Given the description of an element on the screen output the (x, y) to click on. 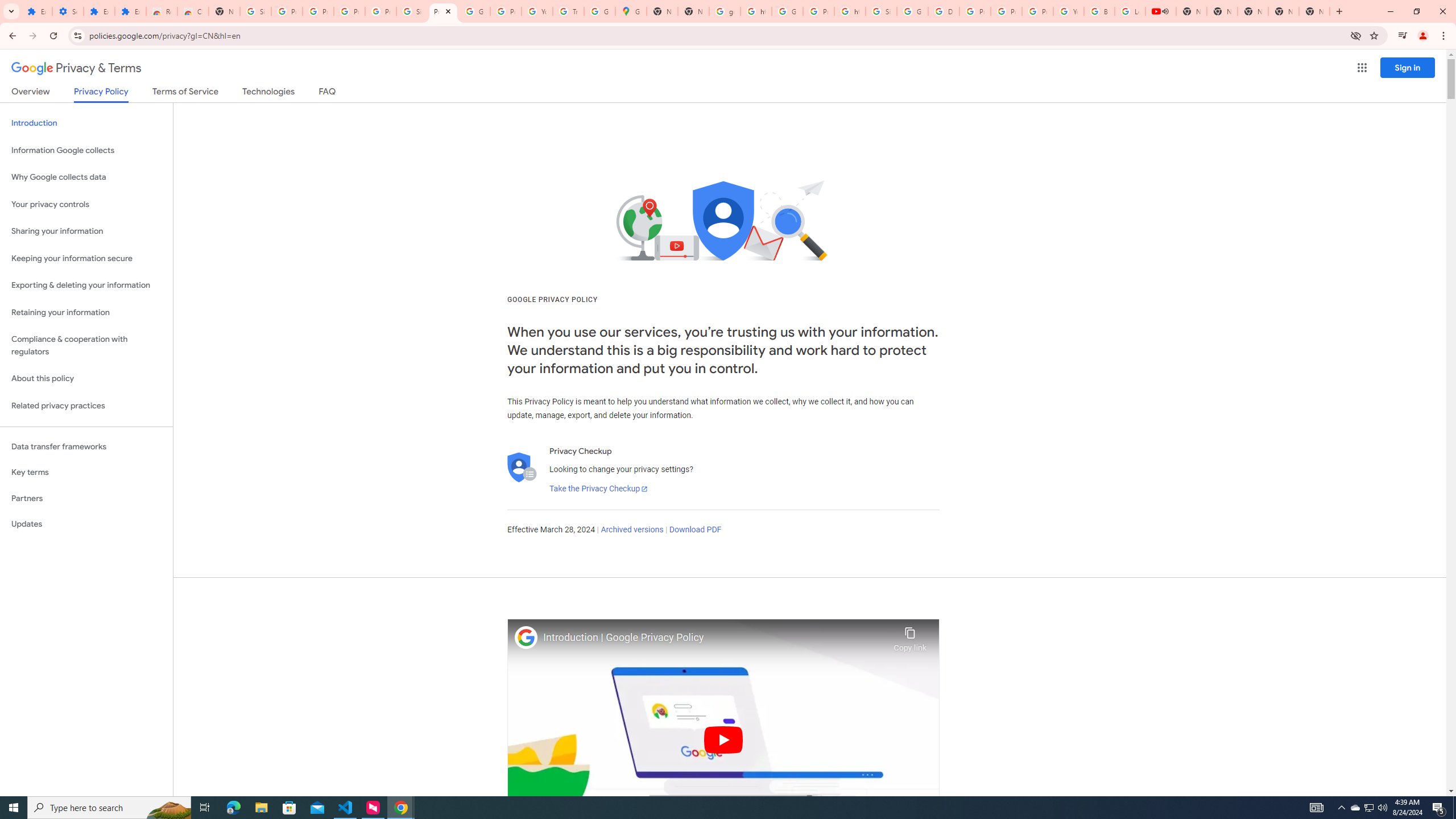
Privacy Help Center - Policies Help (1005, 11)
New Tab (1314, 11)
Reviews: Helix Fruit Jump Arcade Game (161, 11)
Settings (67, 11)
Sign in - Google Accounts (411, 11)
Google Maps (631, 11)
New Tab (693, 11)
